Given the description of an element on the screen output the (x, y) to click on. 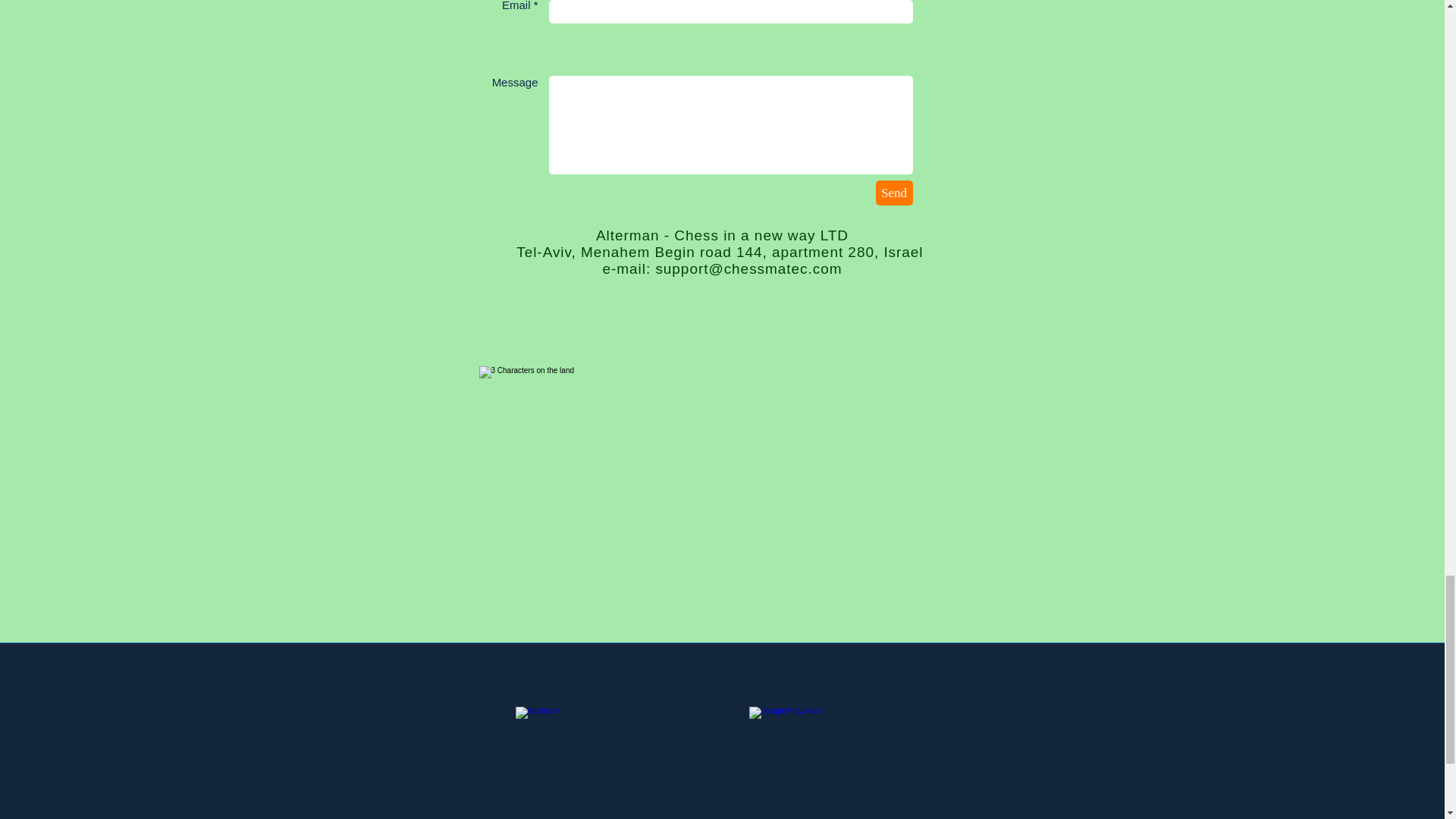
Send (893, 192)
